Given the description of an element on the screen output the (x, y) to click on. 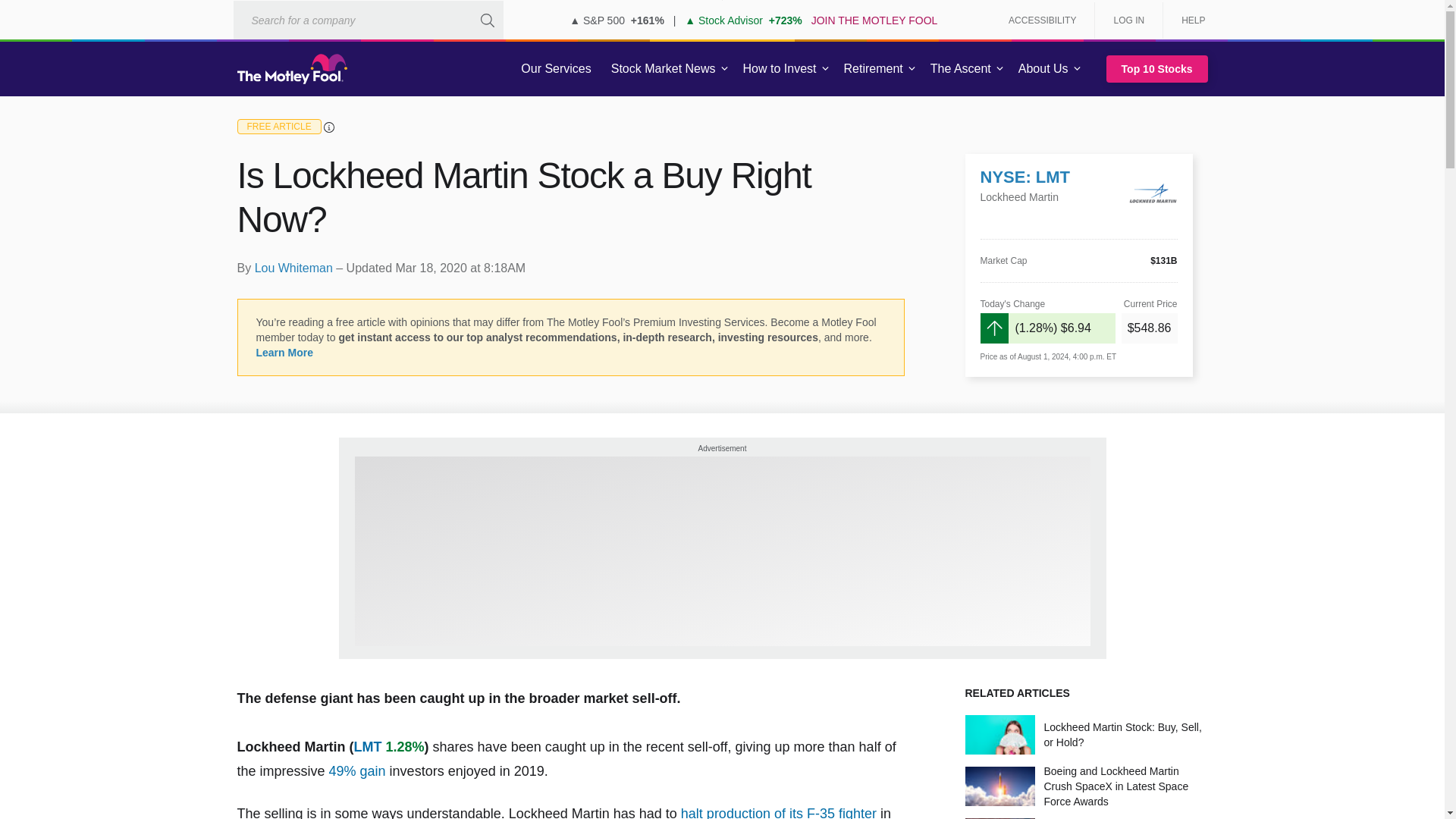
Our Services (555, 68)
ACCESSIBILITY (1042, 19)
How to Invest (779, 68)
LOG IN (1128, 19)
Stock Market News (662, 68)
HELP (1187, 19)
